Given the description of an element on the screen output the (x, y) to click on. 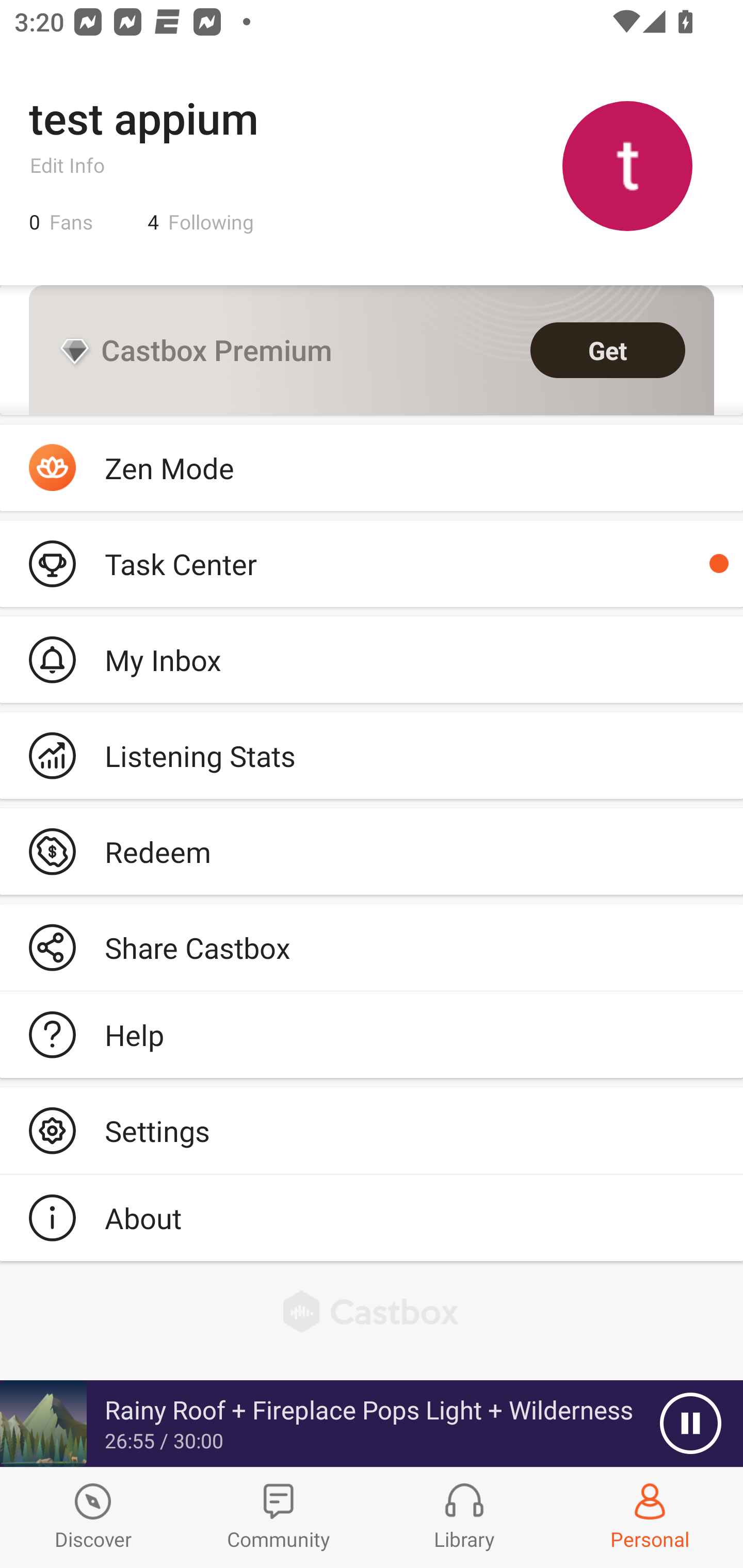
test appium Edit Info 0 Fans 4 Following (371, 165)
0 Fans (60, 221)
4 Following (200, 221)
Castbox Premium Get (371, 350)
Get (607, 350)
Zen Mode (371, 467)
Podcaster  Task Center (371, 563)
 My Inbox (371, 659)
 Listening Stats (371, 755)
 Redeem (371, 851)
 Share Castbox (371, 947)
 Help (371, 1034)
 Settings (371, 1130)
 About (371, 1217)
Pause (690, 1423)
Discover (92, 1517)
Community (278, 1517)
Library (464, 1517)
Profiles and Settings Personal (650, 1517)
